Given the description of an element on the screen output the (x, y) to click on. 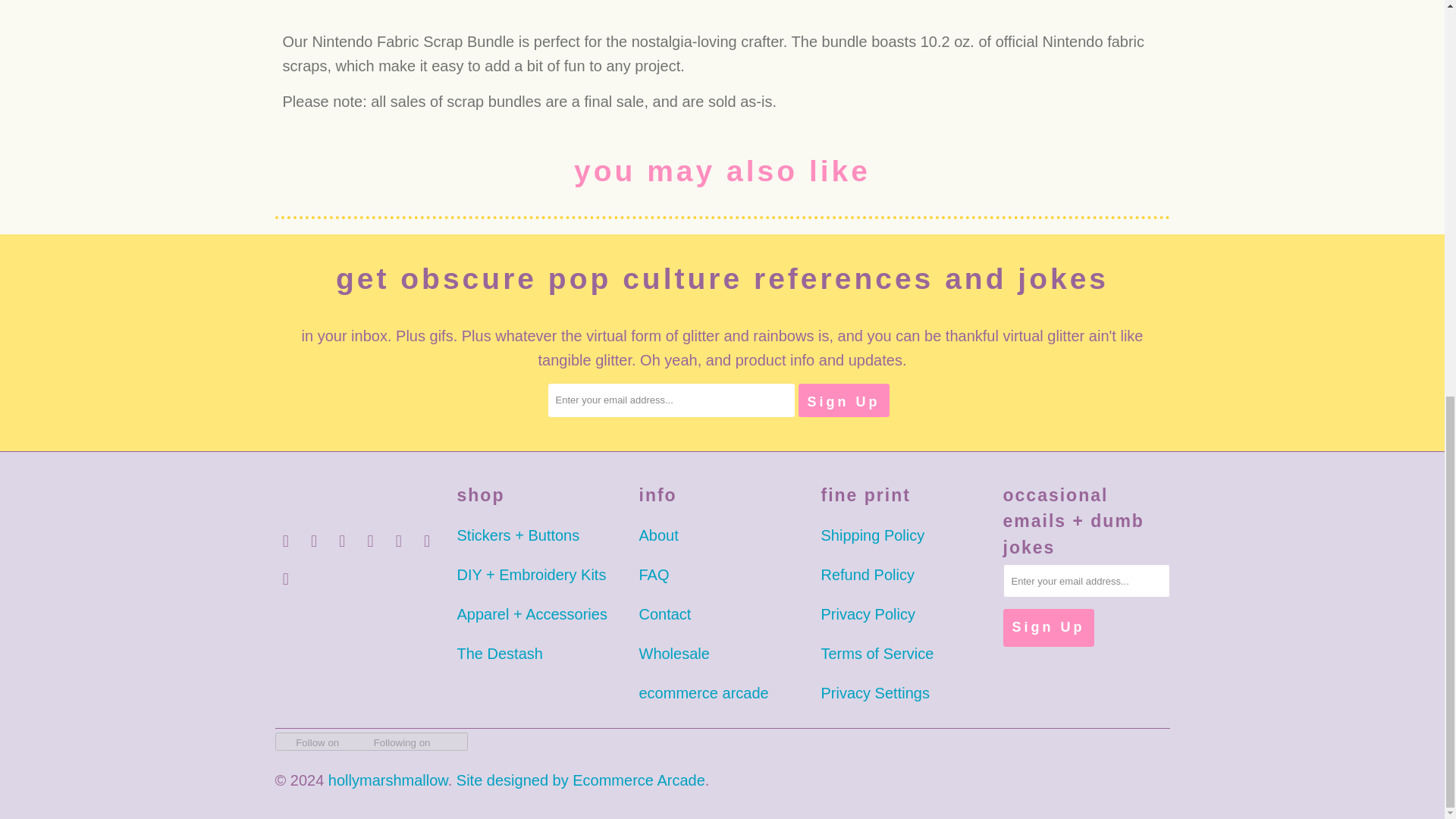
Sign Up (842, 400)
hollymarshmallow on Kickstarter (342, 541)
hollymarshmallow on Twitter (427, 541)
hollymarshmallow on Facebook (286, 541)
hollymarshmallow on TikTok (399, 541)
hollymarshmallow on Instagram (314, 541)
hollymarshmallow on LinkedIn (370, 541)
Sign Up (1048, 628)
hollymarshmallow on YouTube (286, 579)
